Given the description of an element on the screen output the (x, y) to click on. 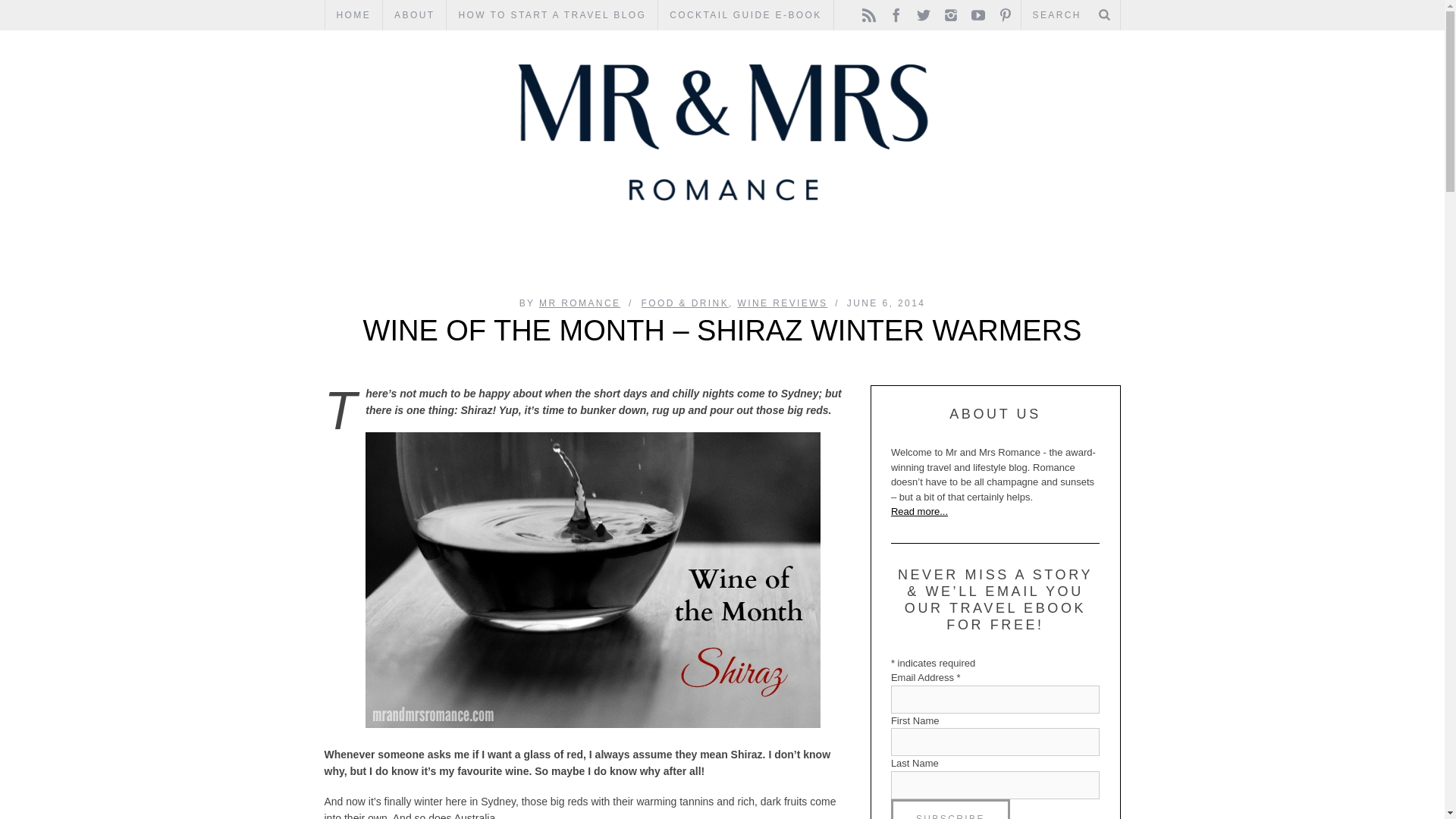
Subscribe (950, 809)
Mr and Mrs Romance - Couples travel and lifestyle blog (722, 132)
HOW TO START A TRAVEL BLOG (552, 14)
HOME (352, 14)
Search (1070, 15)
COCKTAIL GUIDE E-BOOK (745, 14)
ABOUT (413, 14)
